Given the description of an element on the screen output the (x, y) to click on. 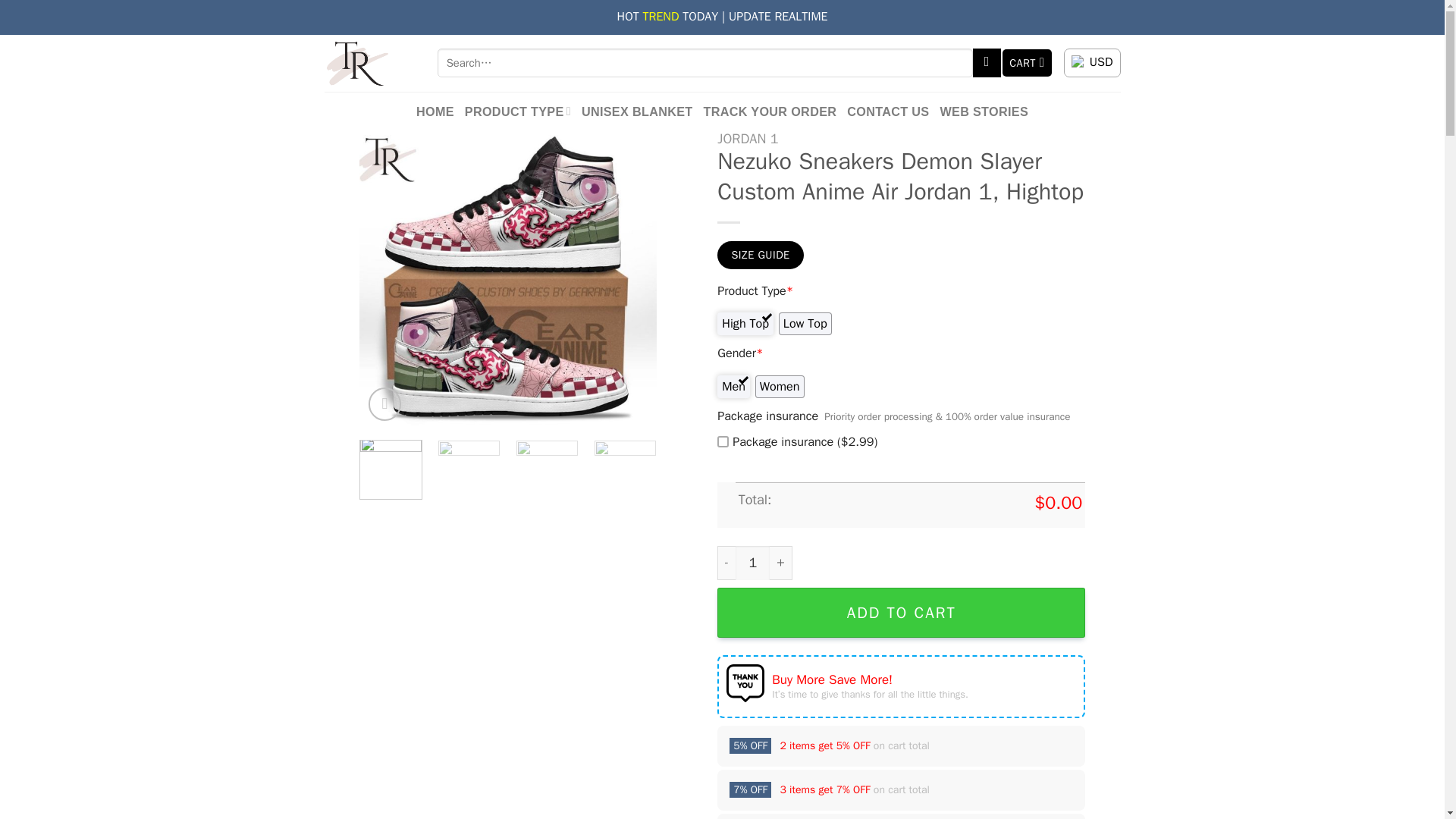
Search (986, 62)
Zoom (384, 403)
PRODUCT TYPE (517, 111)
Cart (1027, 62)
ADD TO CART (900, 613)
HOME (435, 111)
JORDAN 1 (747, 138)
CONTACT US (887, 111)
